Given the description of an element on the screen output the (x, y) to click on. 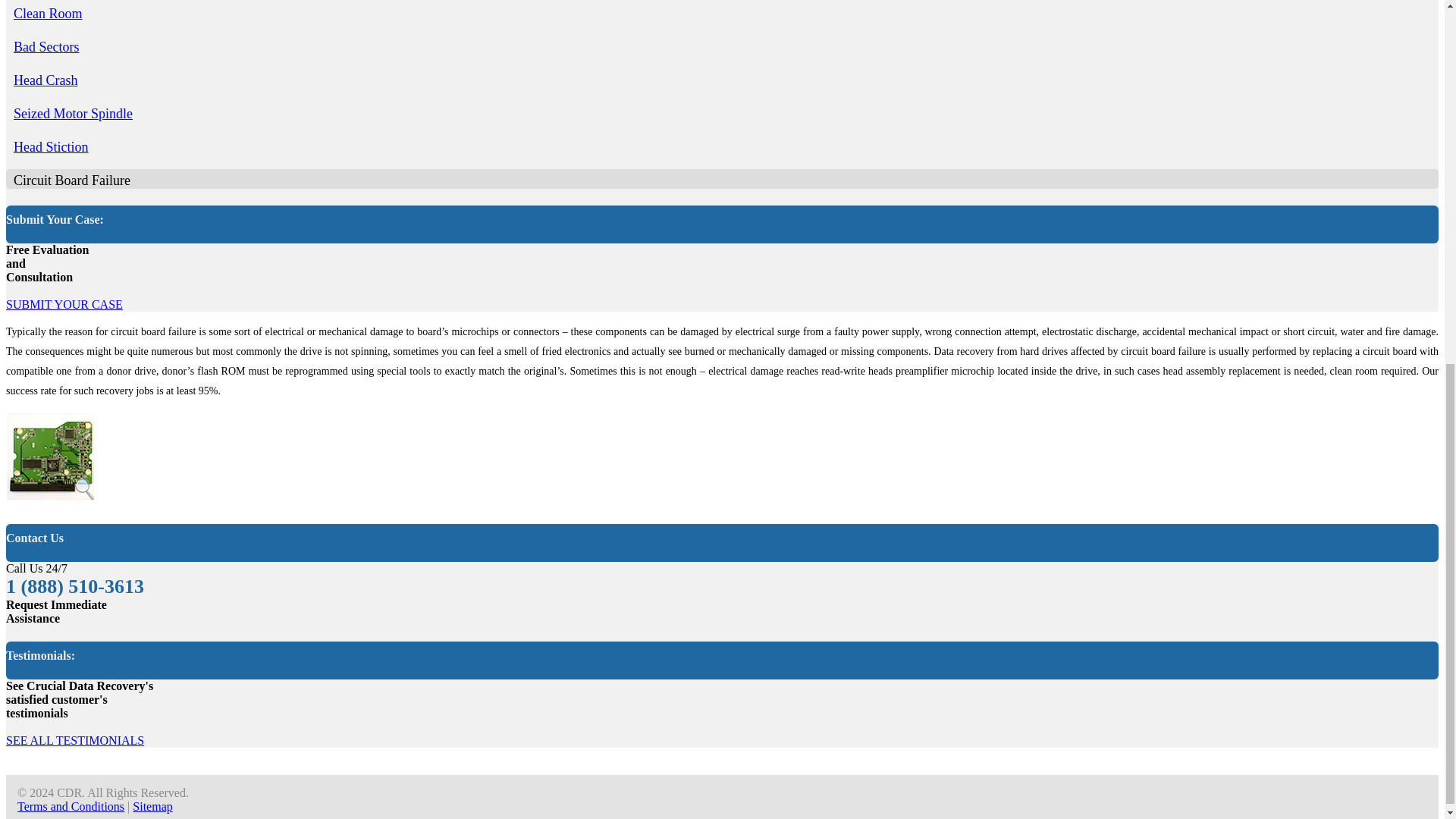
Bad Sectors (45, 46)
Head Crash (45, 79)
Seized Motor Spindle (72, 113)
Clean Room (47, 13)
Head Stiction (50, 146)
SUBMIT YOUR CASE (63, 304)
Sitemap (151, 806)
Terms and Conditions (70, 806)
SEE ALL TESTIMONIALS (74, 739)
